Given the description of an element on the screen output the (x, y) to click on. 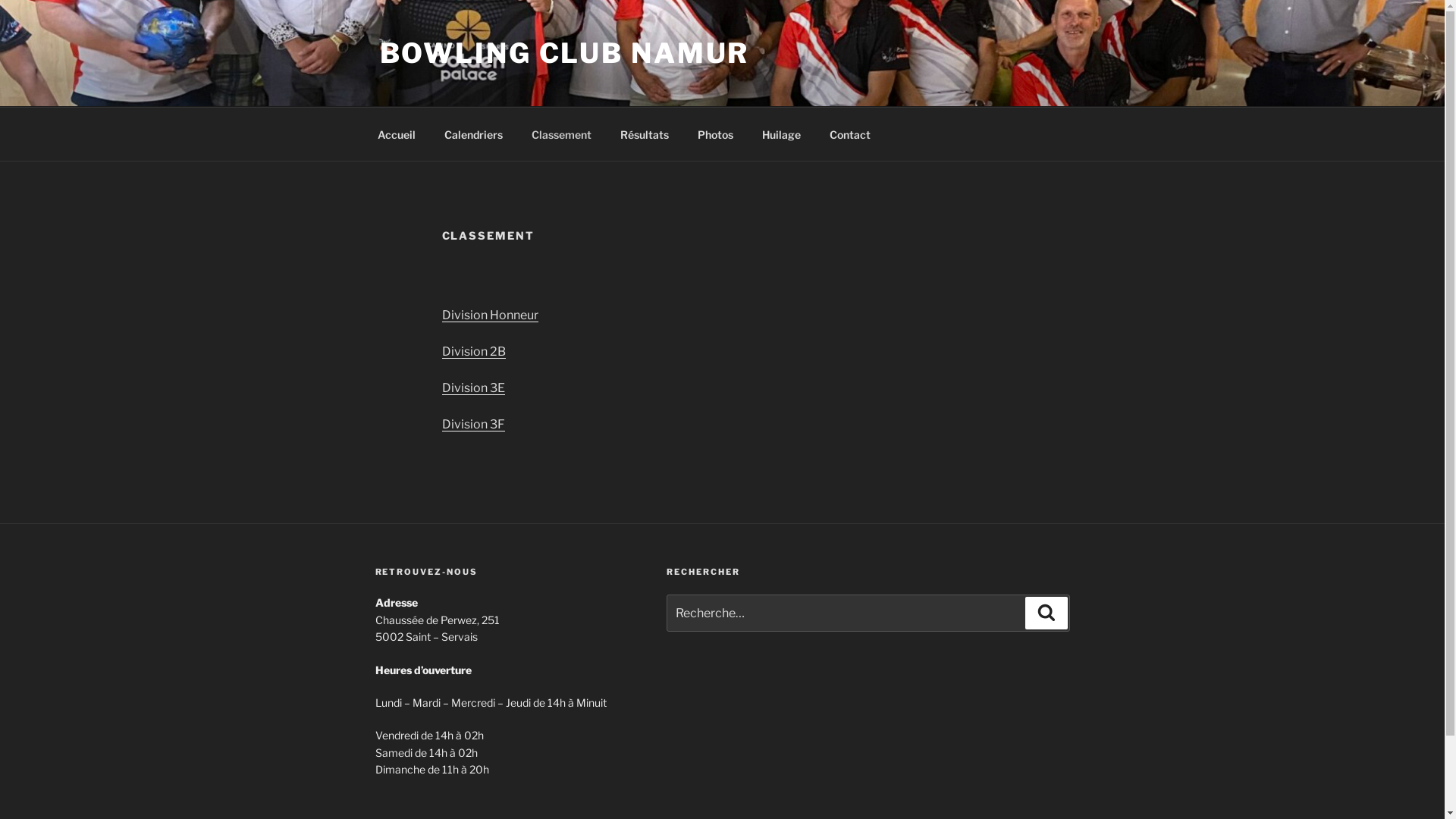
Division 3E Element type: text (472, 387)
Contact Element type: text (849, 133)
Division 2B Element type: text (473, 351)
BOWLING CLUB NAMUR Element type: text (564, 52)
Division 3F Element type: text (472, 424)
Recherche Element type: text (1046, 612)
Division Honneur Element type: text (489, 314)
Accueil Element type: text (396, 133)
Photos Element type: text (715, 133)
Classement Element type: text (561, 133)
Calendriers Element type: text (472, 133)
Huilage Element type: text (781, 133)
